Given the description of an element on the screen output the (x, y) to click on. 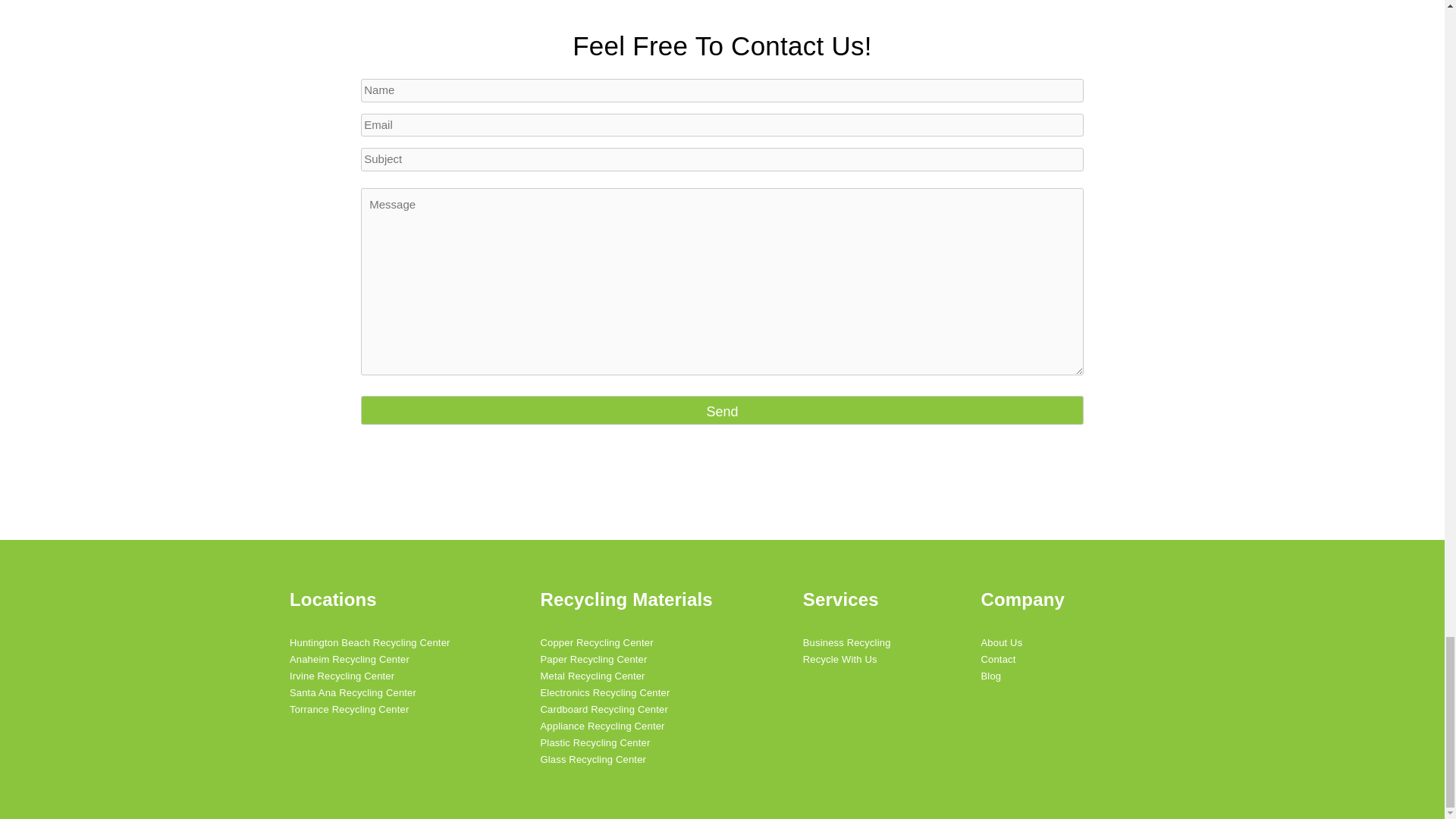
Appliance Recycling Center (625, 726)
Anaheim Recycling Center (369, 659)
Glass Recycling Center (625, 759)
Send (722, 410)
Huntington Beach Recycling Center (369, 642)
Metal Recycling Center (625, 676)
Copper Recycling Center (625, 642)
Santa Ana Recycling Center (369, 692)
Torrance Recycling Center (369, 709)
Plastic Recycling Center (625, 742)
